Given the description of an element on the screen output the (x, y) to click on. 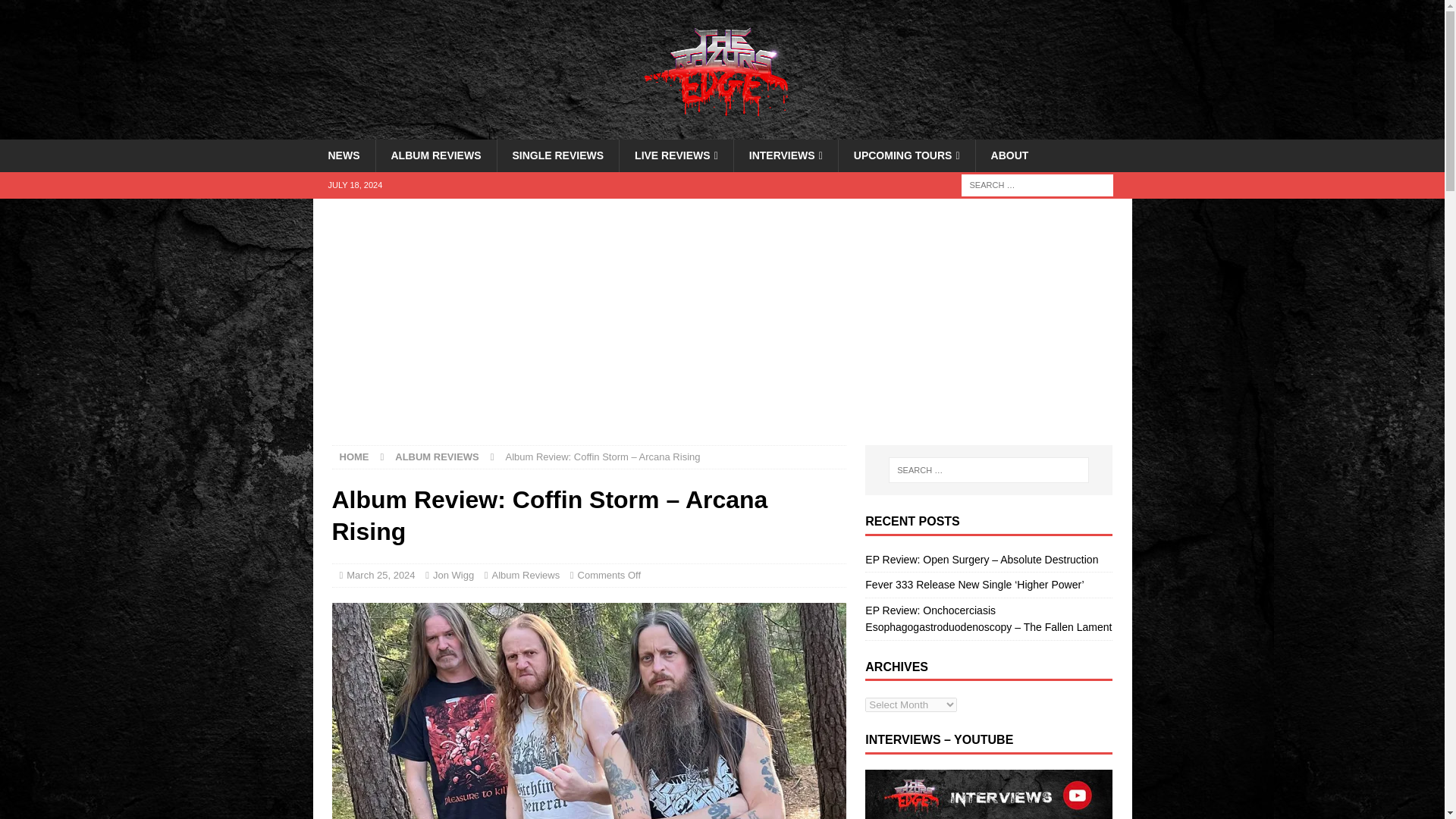
LIVE REVIEWS (675, 155)
INTERVIEWS (785, 155)
SINGLE REVIEWS (557, 155)
NEWS (343, 155)
ALBUM REVIEWS (435, 155)
UPCOMING TOURS (906, 155)
coffinstorm (588, 710)
